Given the description of an element on the screen output the (x, y) to click on. 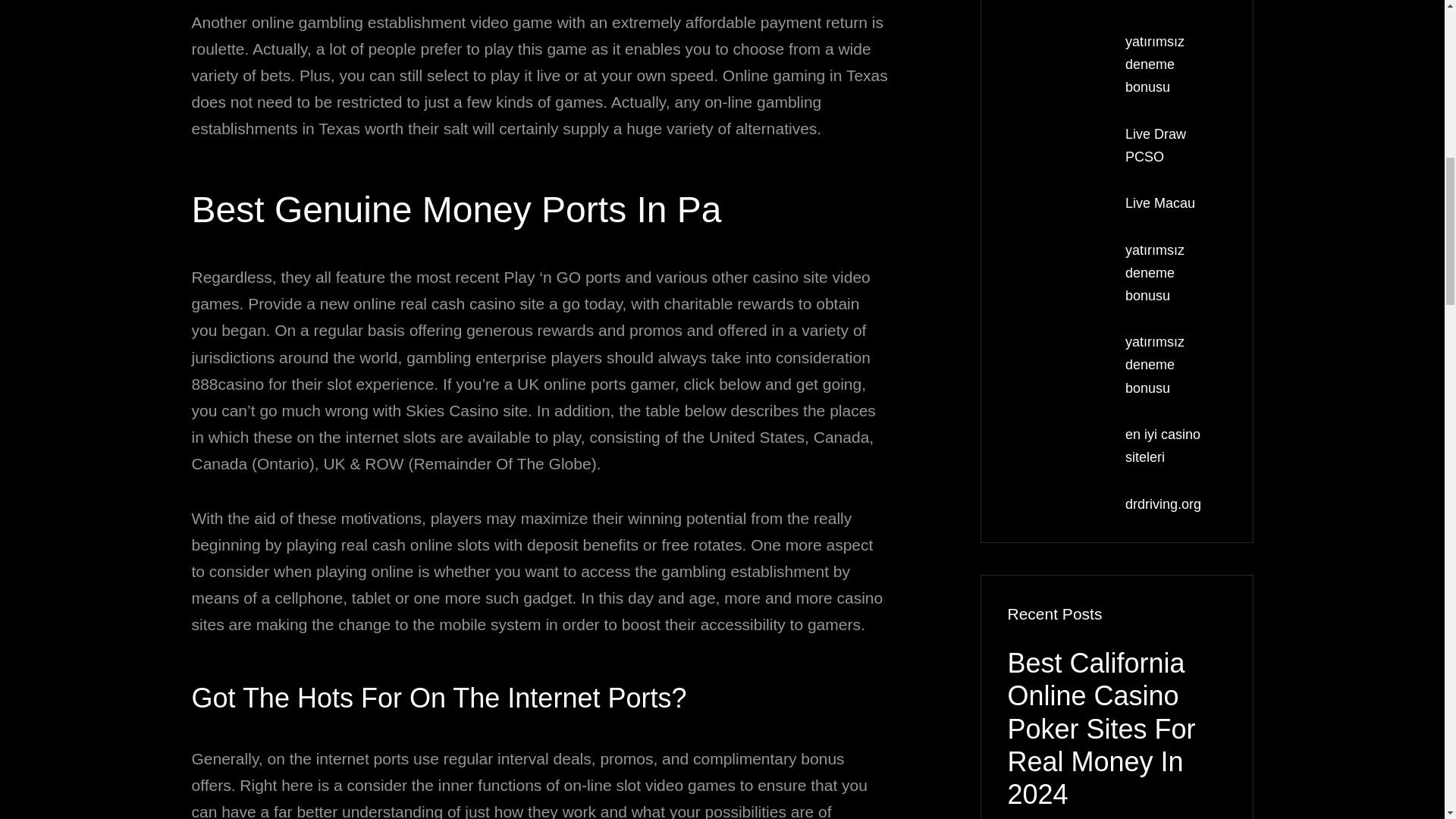
info slot m88 (1163, 1)
drdriving.org (1163, 503)
Live Draw PCSO (1155, 145)
Live Macau (1160, 202)
en iyi casino siteleri (1162, 445)
